Given the description of an element on the screen output the (x, y) to click on. 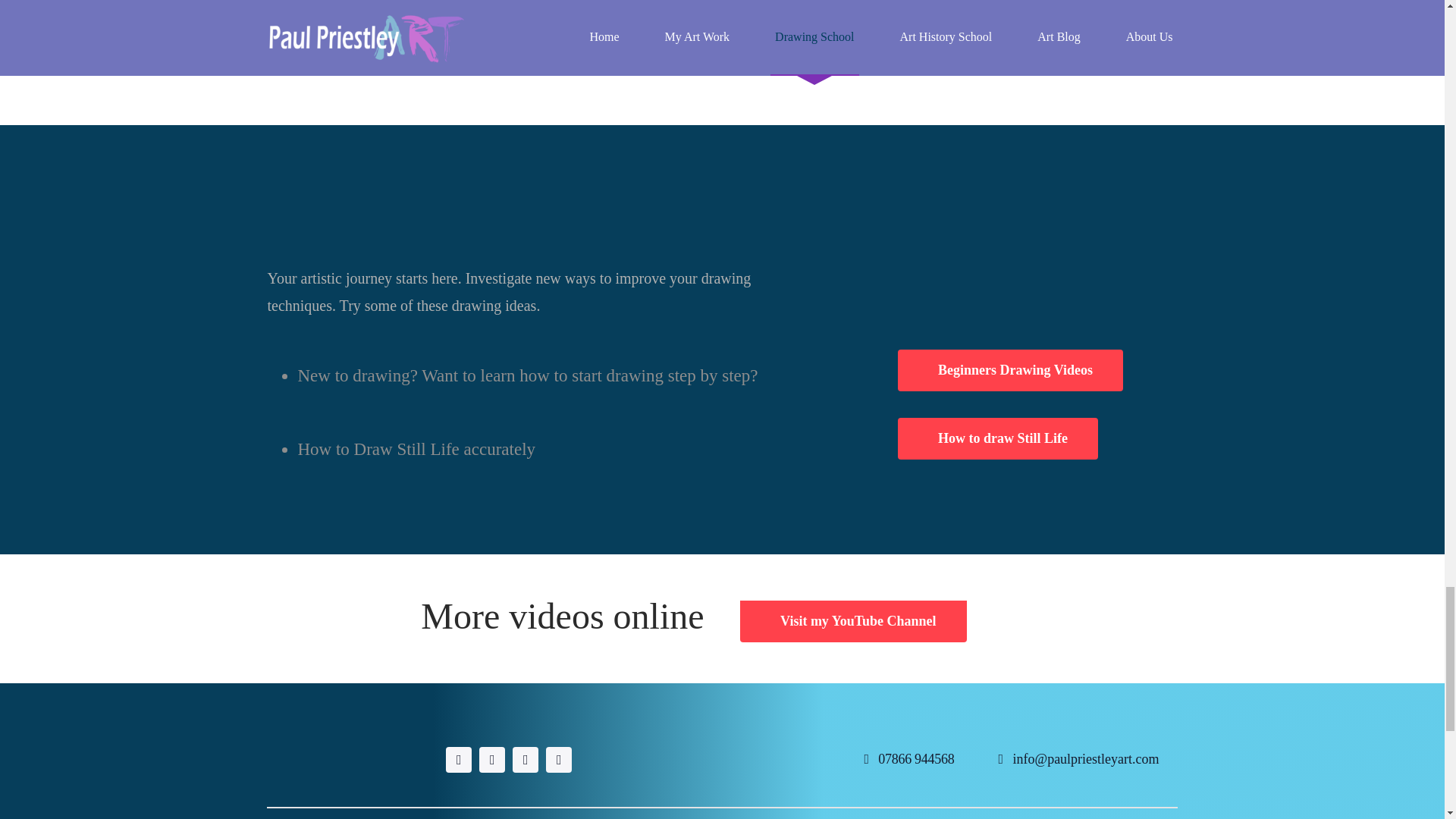
Paul Priestley Art logo (342, 758)
